Given the description of an element on the screen output the (x, y) to click on. 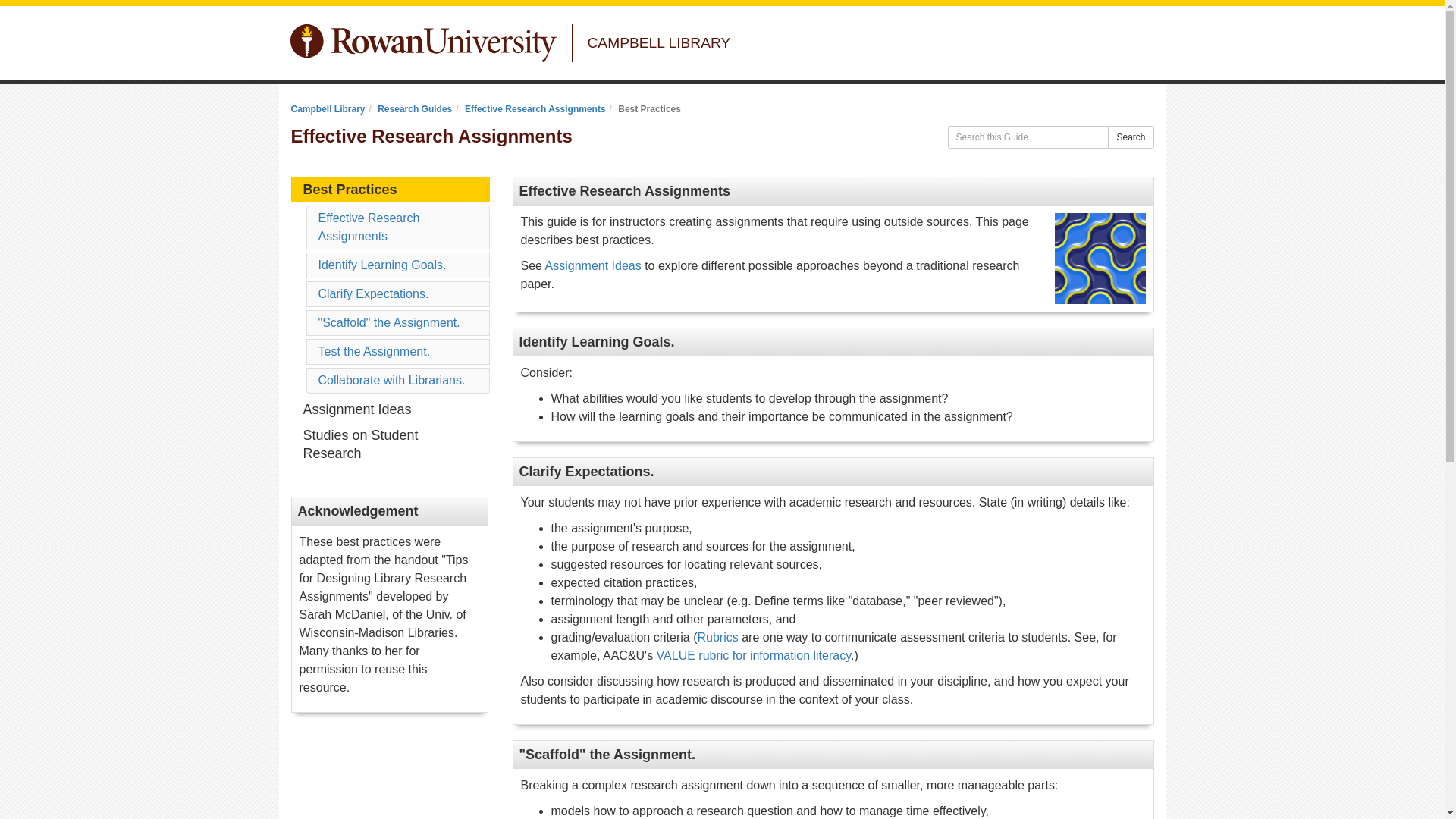
Collaborate with Librarians. (391, 379)
Research Guides (414, 109)
Best Practices (390, 189)
Identify Learning Goals. (382, 264)
Rowan University (422, 43)
Effective Research Assignments (534, 109)
Effective Research Assignments (369, 226)
Rubrics (717, 636)
Studies on Student Research (390, 444)
Search (1130, 137)
